Given the description of an element on the screen output the (x, y) to click on. 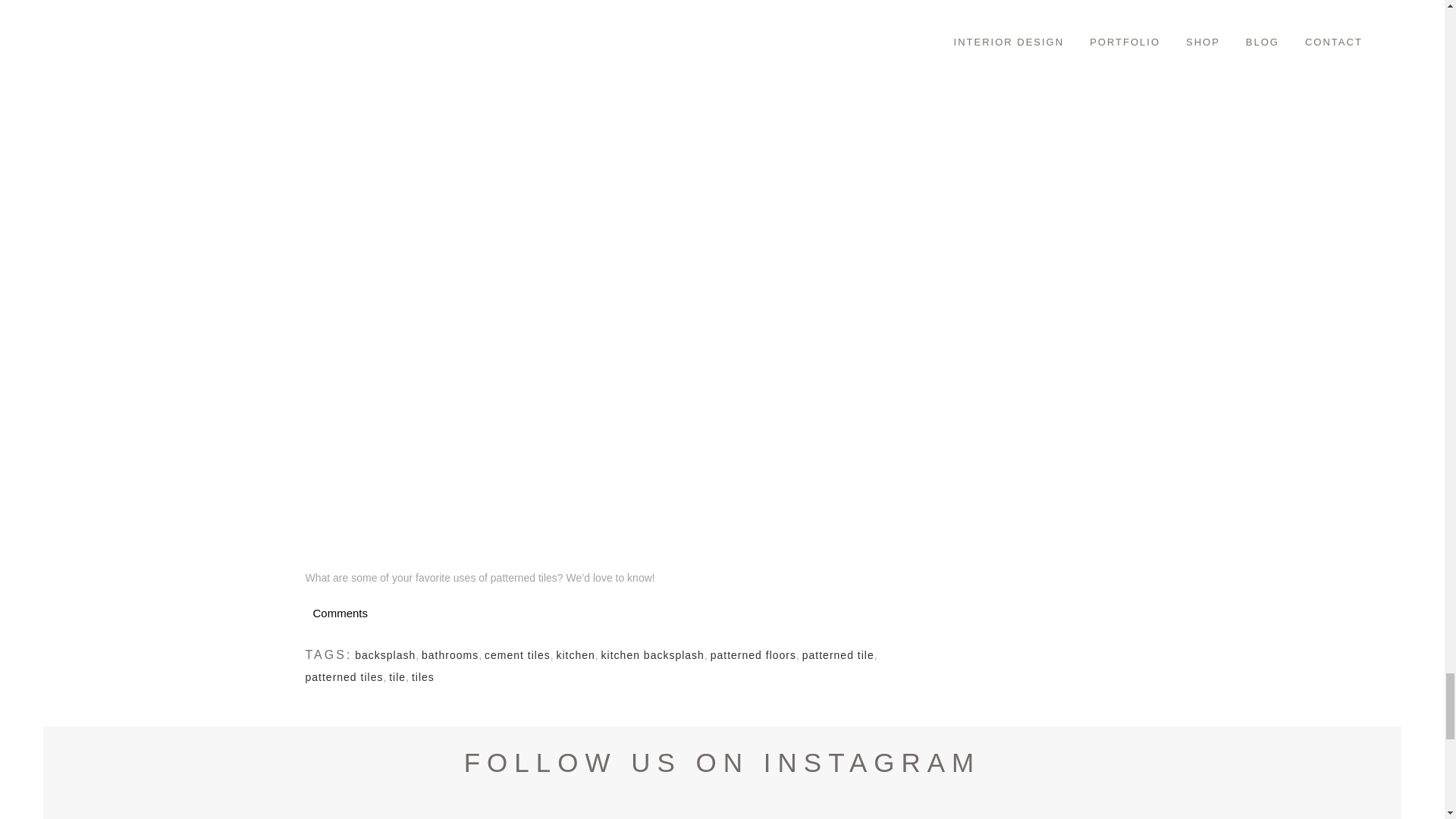
kitchen backsplash (652, 654)
cement tiles (517, 654)
patterned floors (753, 654)
tiles (422, 676)
backsplash (384, 654)
tile (397, 676)
bathrooms (450, 654)
kitchen (575, 654)
patterned tiles (343, 676)
patterned tile (838, 654)
